Given the description of an element on the screen output the (x, y) to click on. 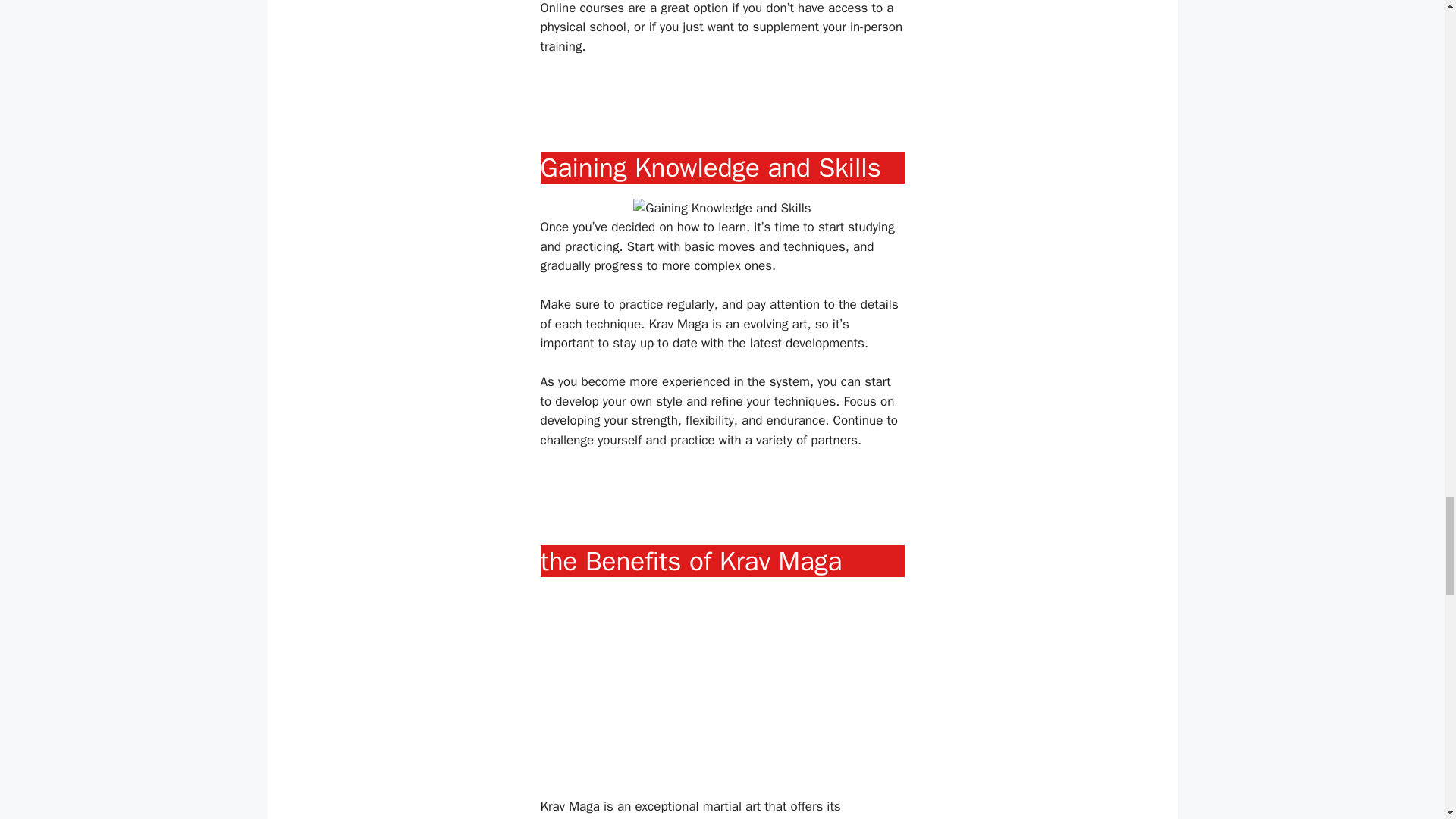
benefits (700, 818)
